Given the description of an element on the screen output the (x, y) to click on. 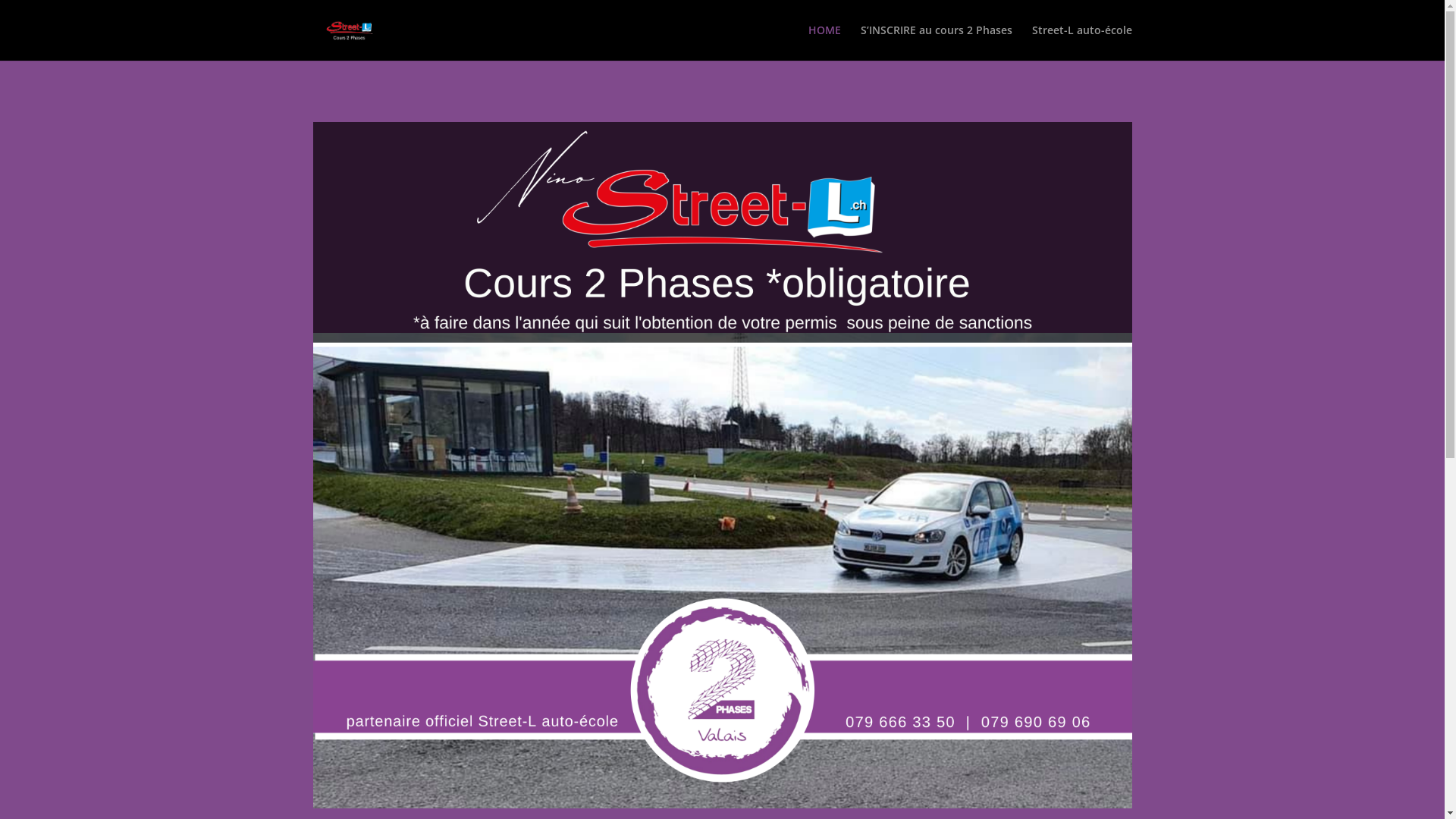
HOME Element type: text (824, 42)
